Given the description of an element on the screen output the (x, y) to click on. 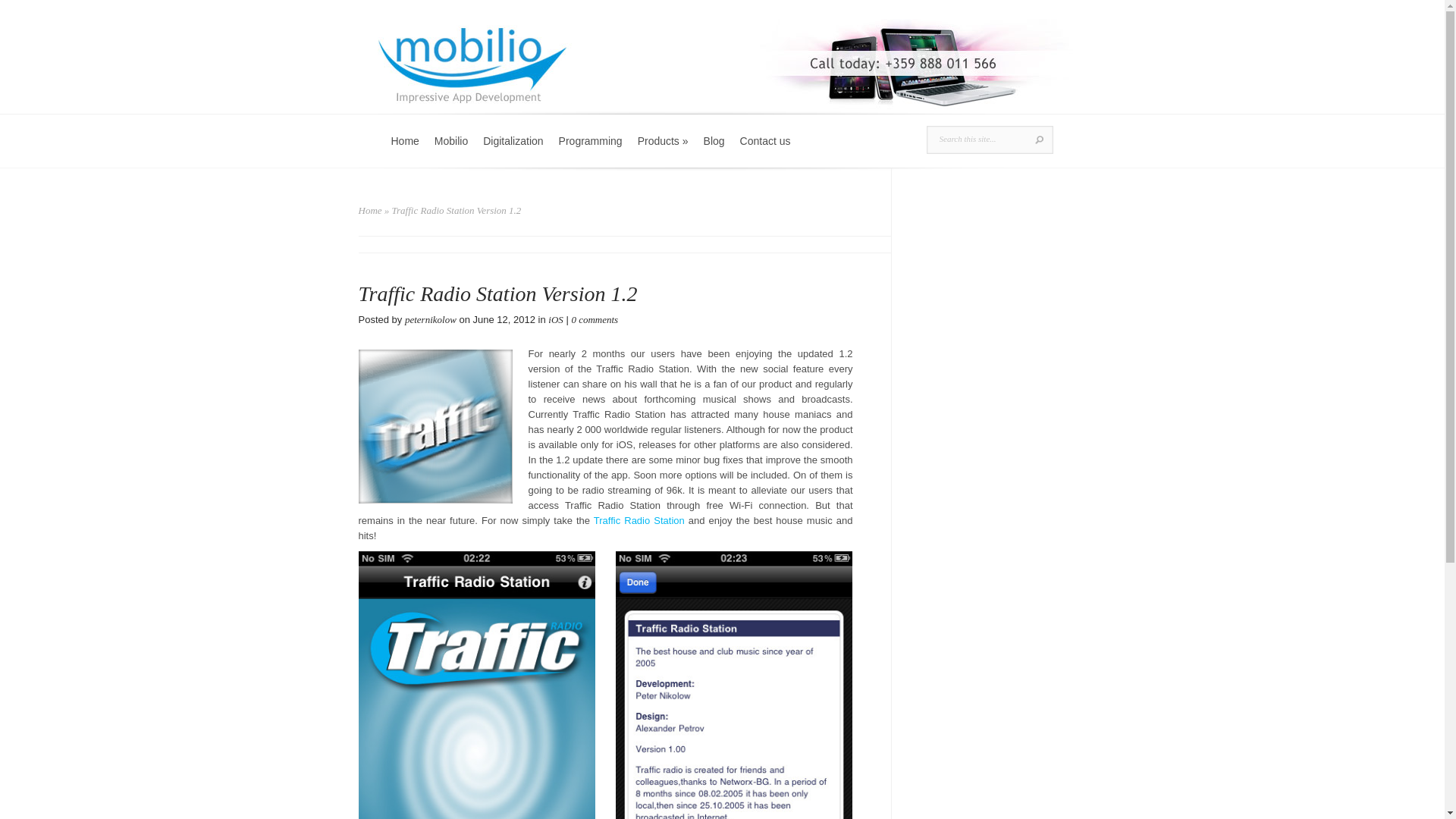
Home (405, 150)
Search this site... (979, 138)
0 comments (593, 319)
Programming (590, 150)
Mobilio (451, 150)
Traffic Radio Station (639, 520)
Digitalization (513, 150)
Blog (713, 150)
peternikolow (430, 319)
Traffic Radio Station Version 1.2 (639, 520)
Contact us (764, 150)
Posts by peternikolow (430, 319)
Home (369, 210)
iOS (555, 319)
